Given the description of an element on the screen output the (x, y) to click on. 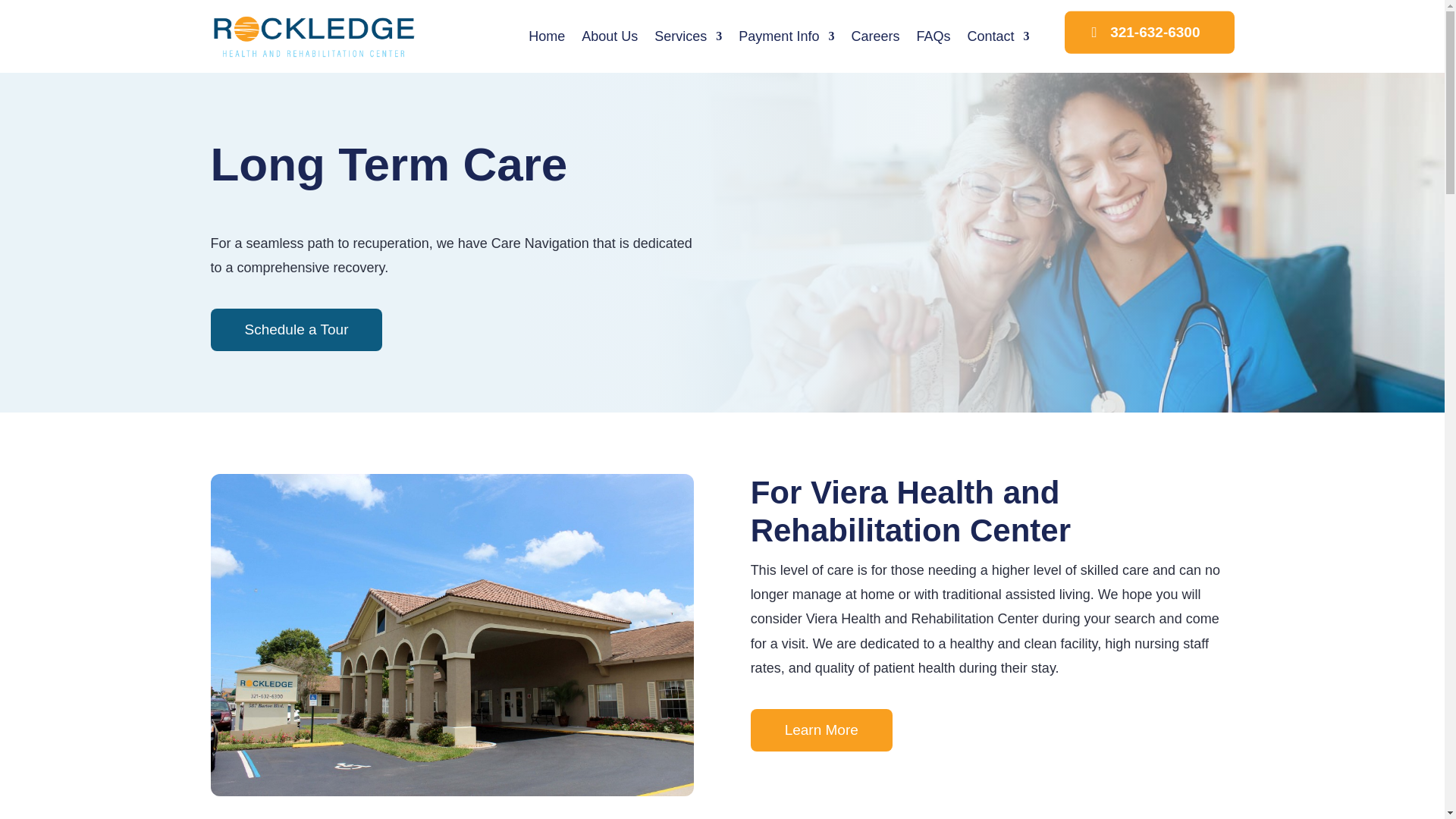
Learn More (821, 730)
About Us (608, 36)
Payment Info (786, 36)
Services (687, 36)
321-632-6300 (1148, 32)
Schedule a Tour (296, 329)
Contact (997, 36)
